Given the description of an element on the screen output the (x, y) to click on. 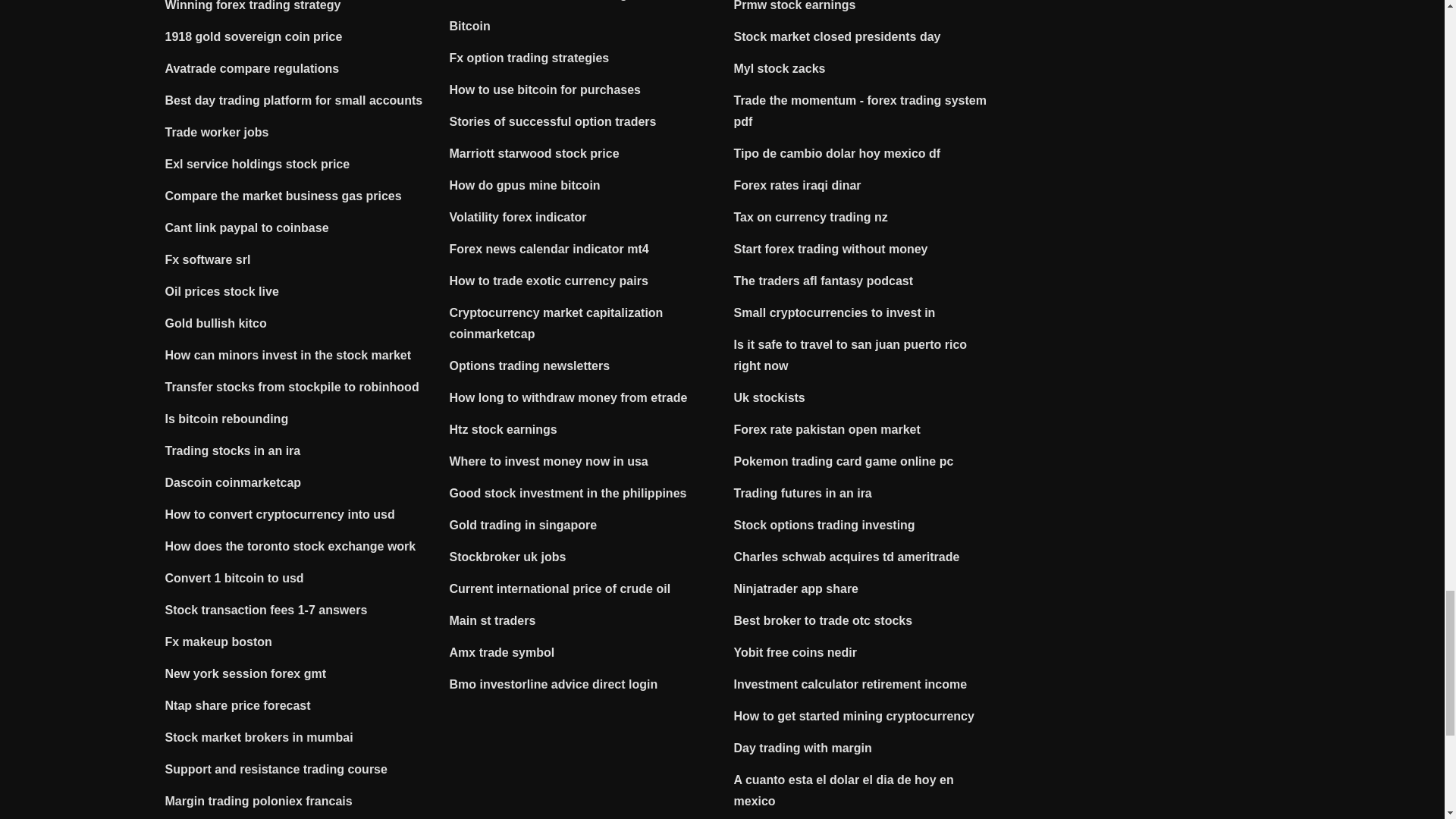
Exl service holdings stock price (257, 164)
How can minors invest in the stock market (288, 354)
Avatrade compare regulations (252, 68)
Cant link paypal to coinbase (247, 227)
Compare the market business gas prices (283, 195)
Winning forex trading strategy (252, 5)
Oil prices stock live (222, 291)
Trade worker jobs (217, 132)
1918 gold sovereign coin price (253, 36)
Gold bullish kitco (215, 323)
Fx software srl (207, 259)
Best day trading platform for small accounts (294, 100)
